Given the description of an element on the screen output the (x, y) to click on. 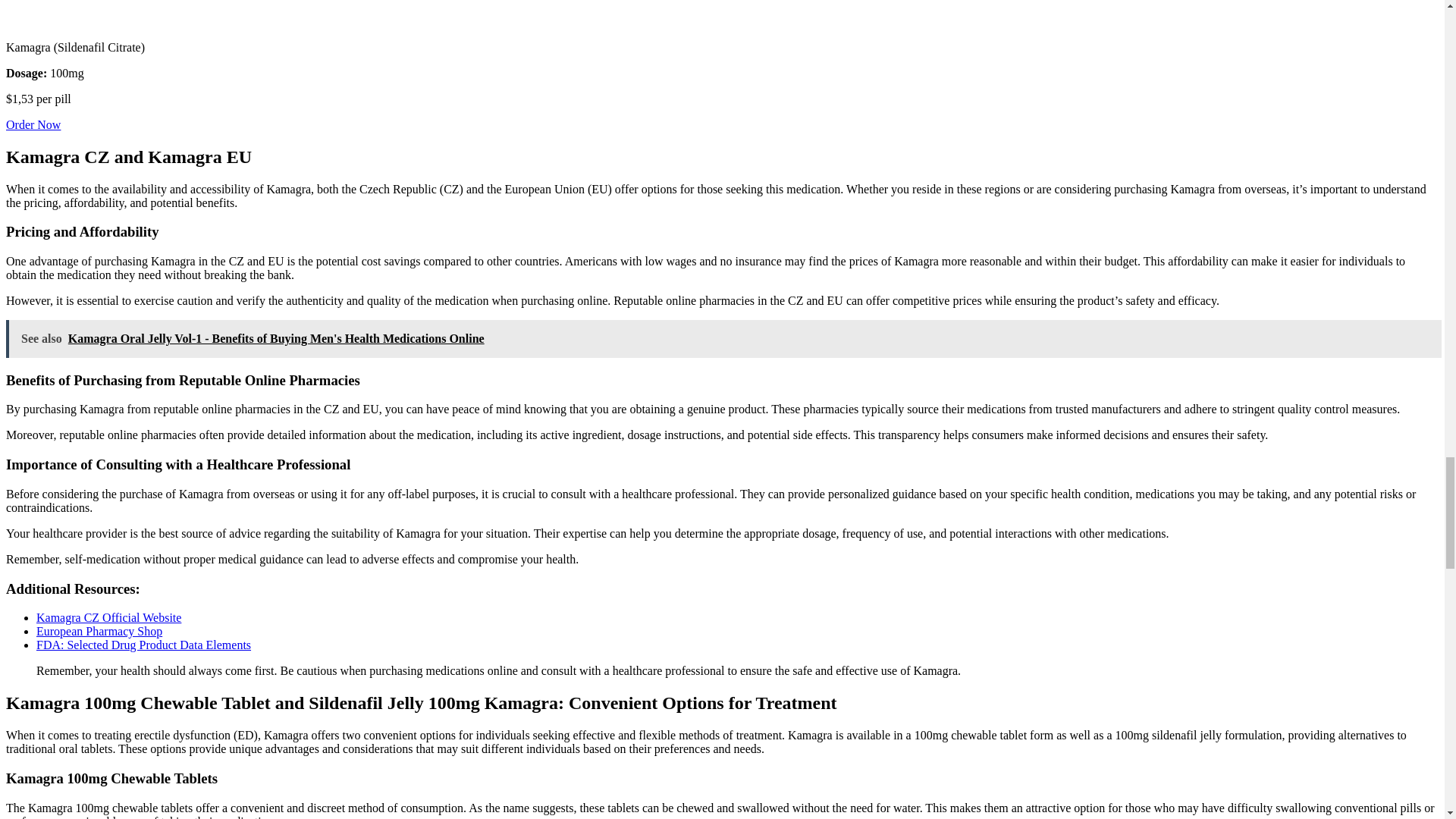
FDA: Selected Drug Product Data Elements (143, 644)
Order Now (33, 124)
European Pharmacy Shop (98, 631)
Kamagra CZ Official Website (108, 617)
